Given the description of an element on the screen output the (x, y) to click on. 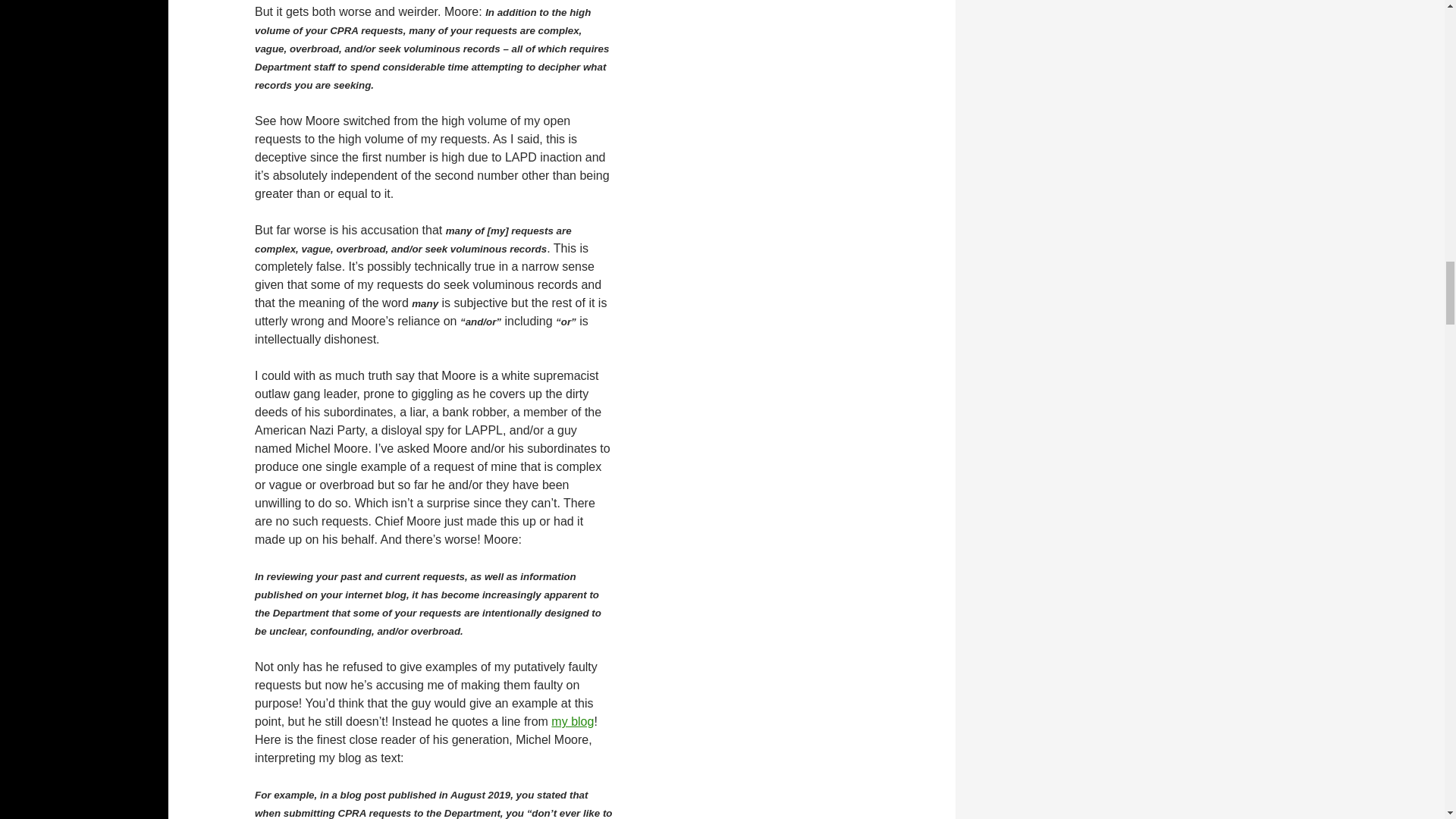
my blog (572, 721)
